Given the description of an element on the screen output the (x, y) to click on. 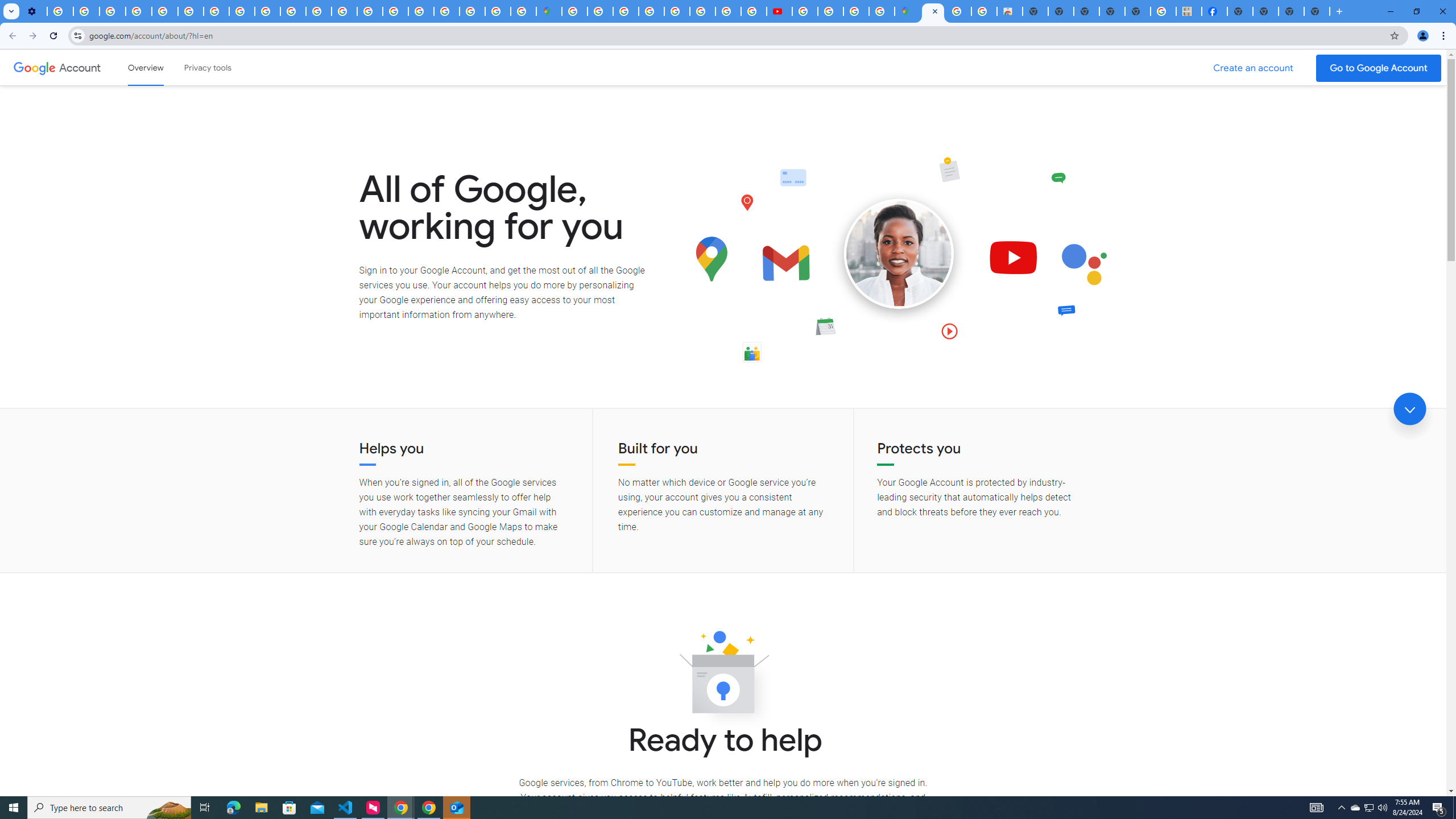
Google Account overview (145, 67)
Learn how to find your photos - Google Photos Help (86, 11)
https://scholar.google.com/ (318, 11)
Google logo (34, 67)
Google Account (80, 67)
Create a Google Account (1253, 67)
Privacy Help Center - Policies Help (727, 11)
Sign in - Google Accounts (446, 11)
Terms and Conditions (676, 11)
Delete photos & videos - Computer - Google Photos Help (60, 11)
